Given the description of an element on the screen output the (x, y) to click on. 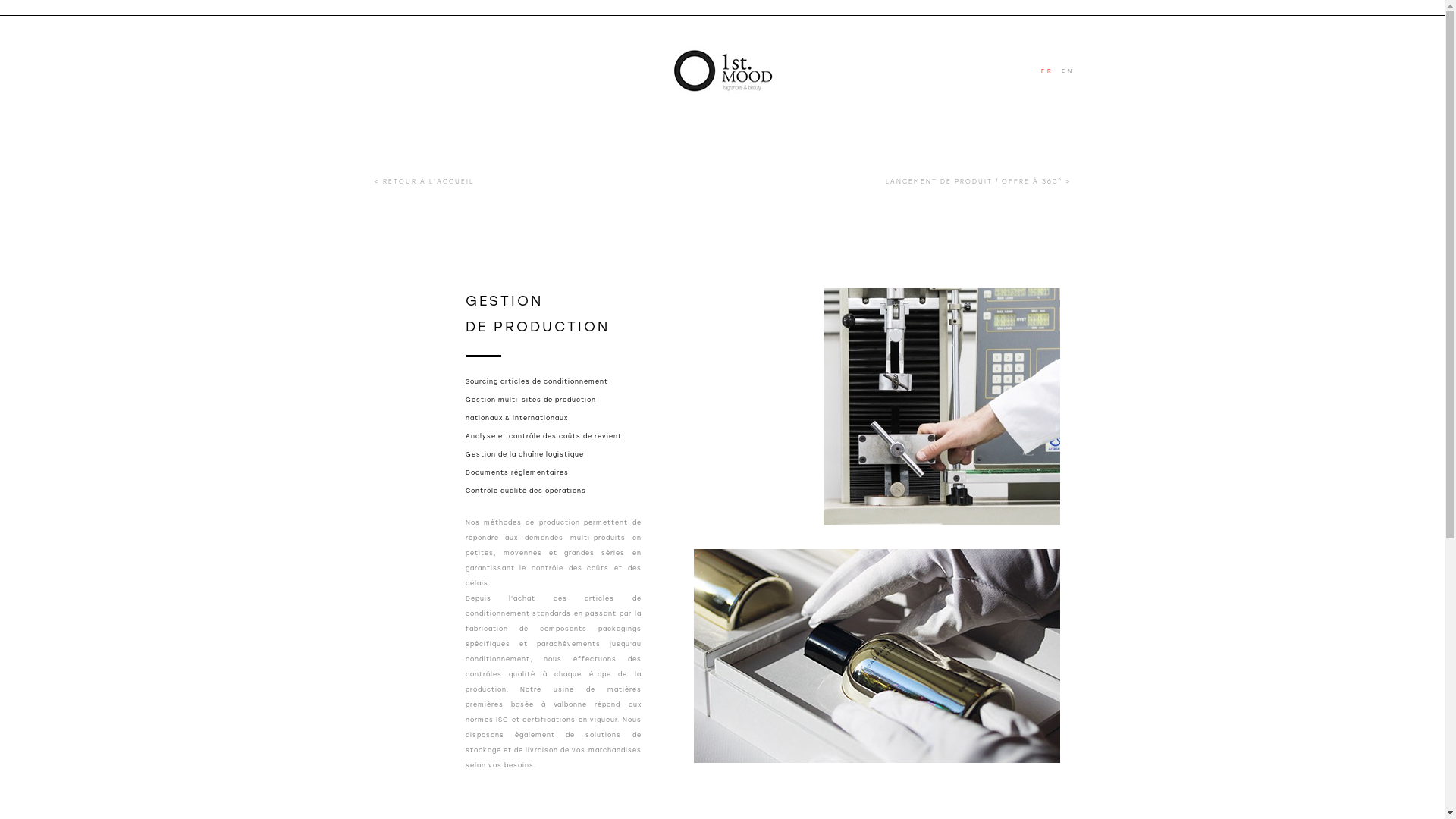
FR Element type: text (1051, 71)
EN Element type: text (1070, 71)
